Given the description of an element on the screen output the (x, y) to click on. 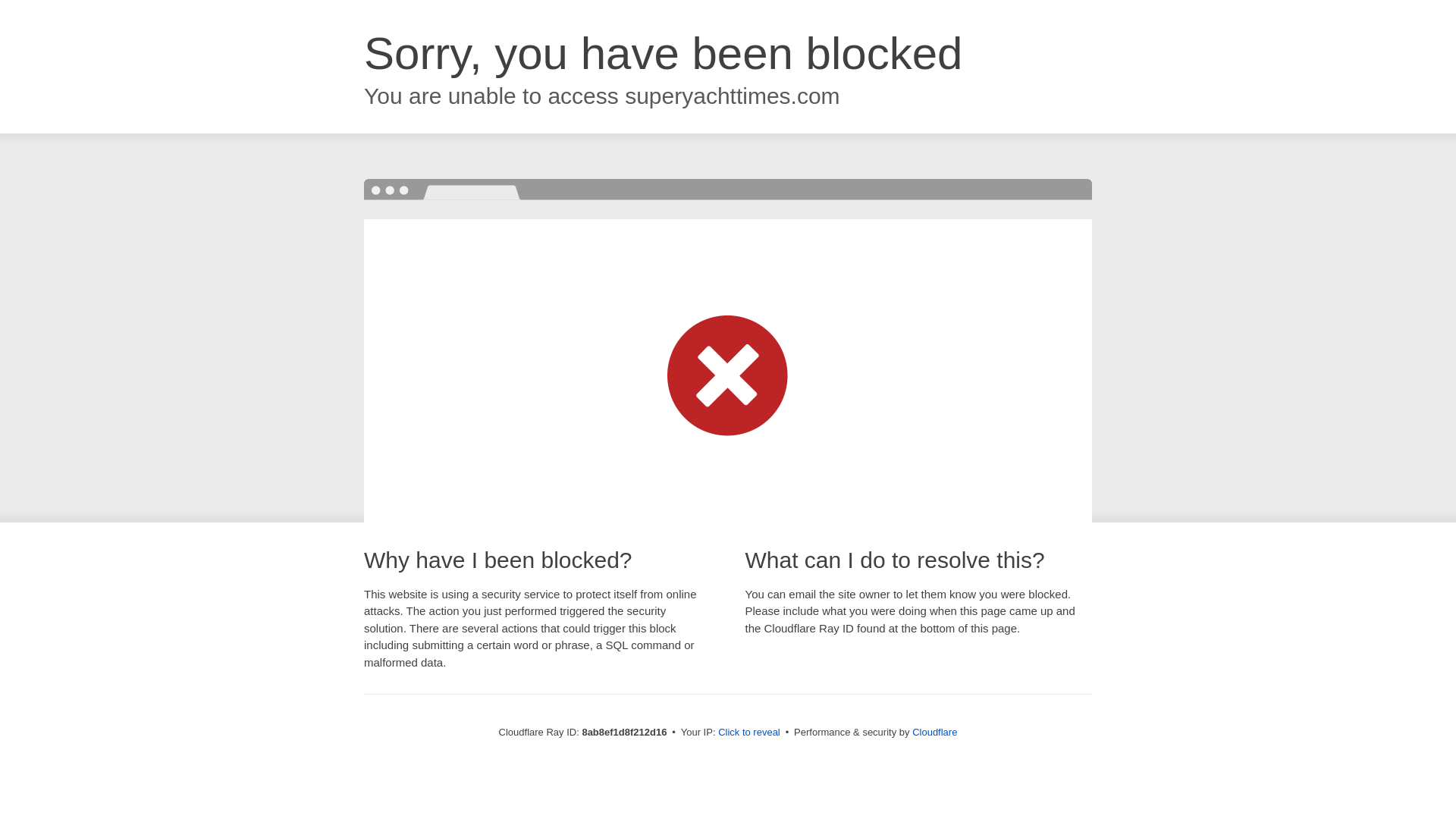
Cloudflare (934, 731)
Click to reveal (748, 732)
